Given the description of an element on the screen output the (x, y) to click on. 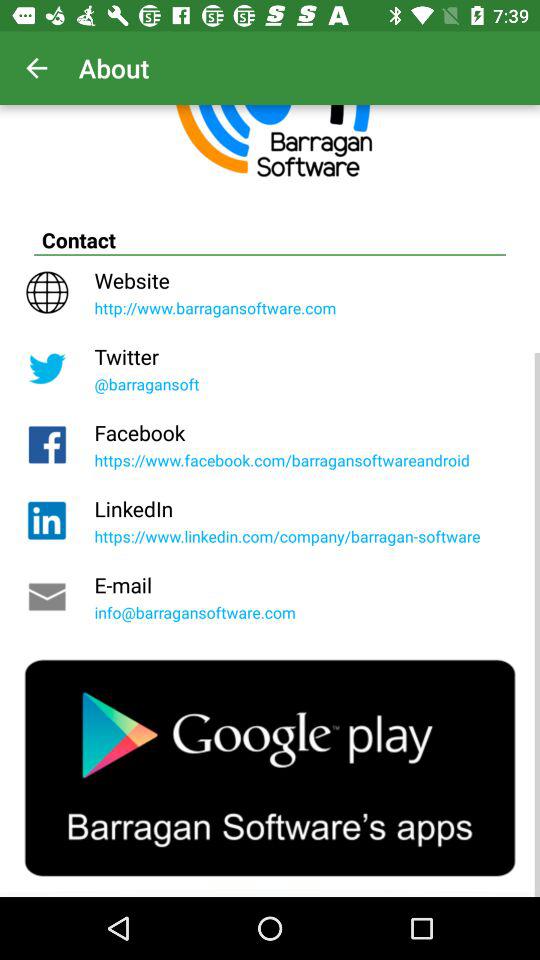
open google play (269, 767)
